Given the description of an element on the screen output the (x, y) to click on. 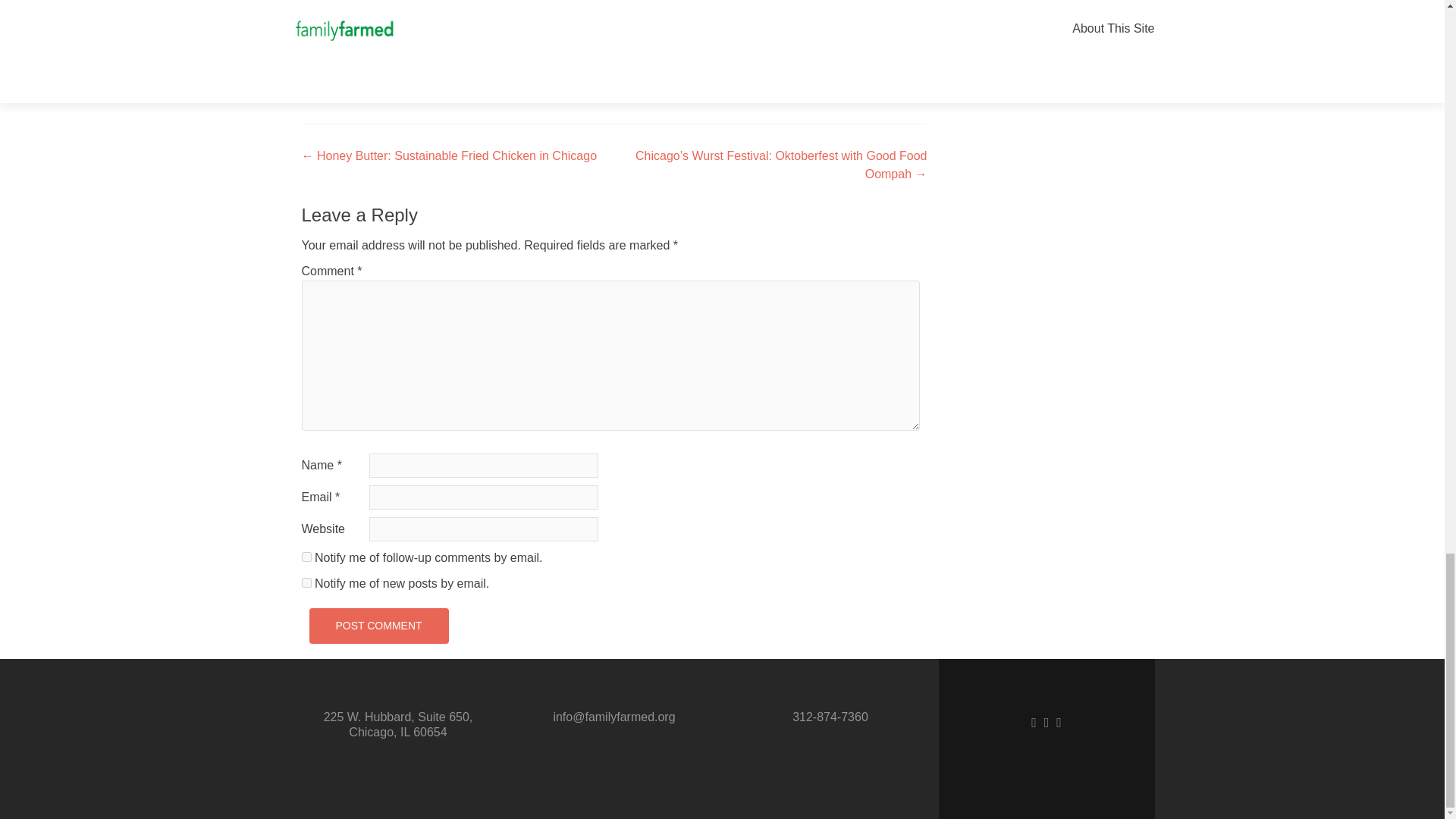
rum (439, 91)
Post Comment (378, 625)
Craft beverages (478, 72)
subscribe (306, 583)
Post Comment (378, 625)
Tailwinds Distilling (505, 91)
Good Food movement (361, 91)
Food Artisans (565, 72)
craft distilling (821, 72)
craft spirits (890, 72)
